Given the description of an element on the screen output the (x, y) to click on. 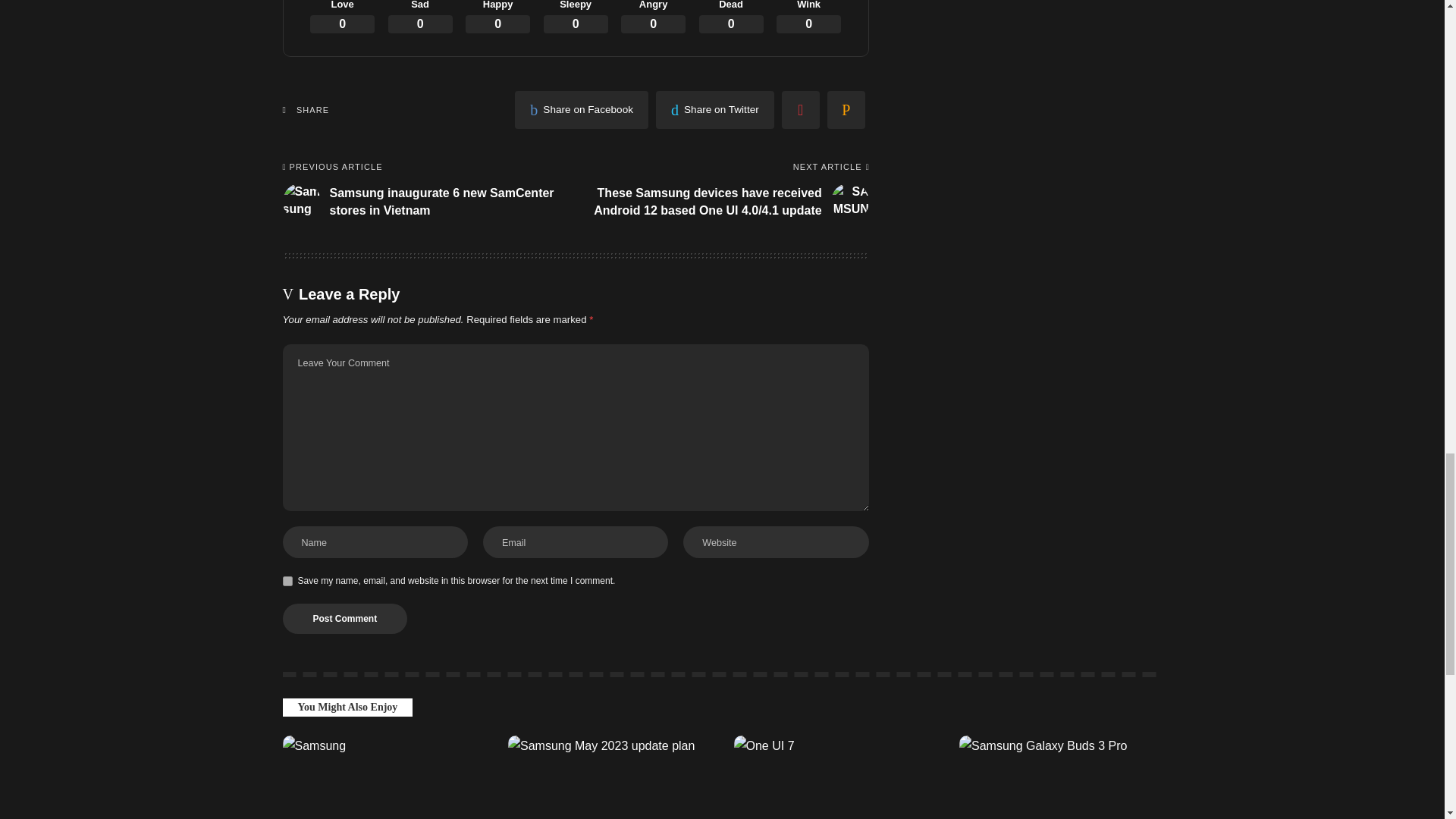
yes (287, 581)
Post Comment (344, 618)
